Given the description of an element on the screen output the (x, y) to click on. 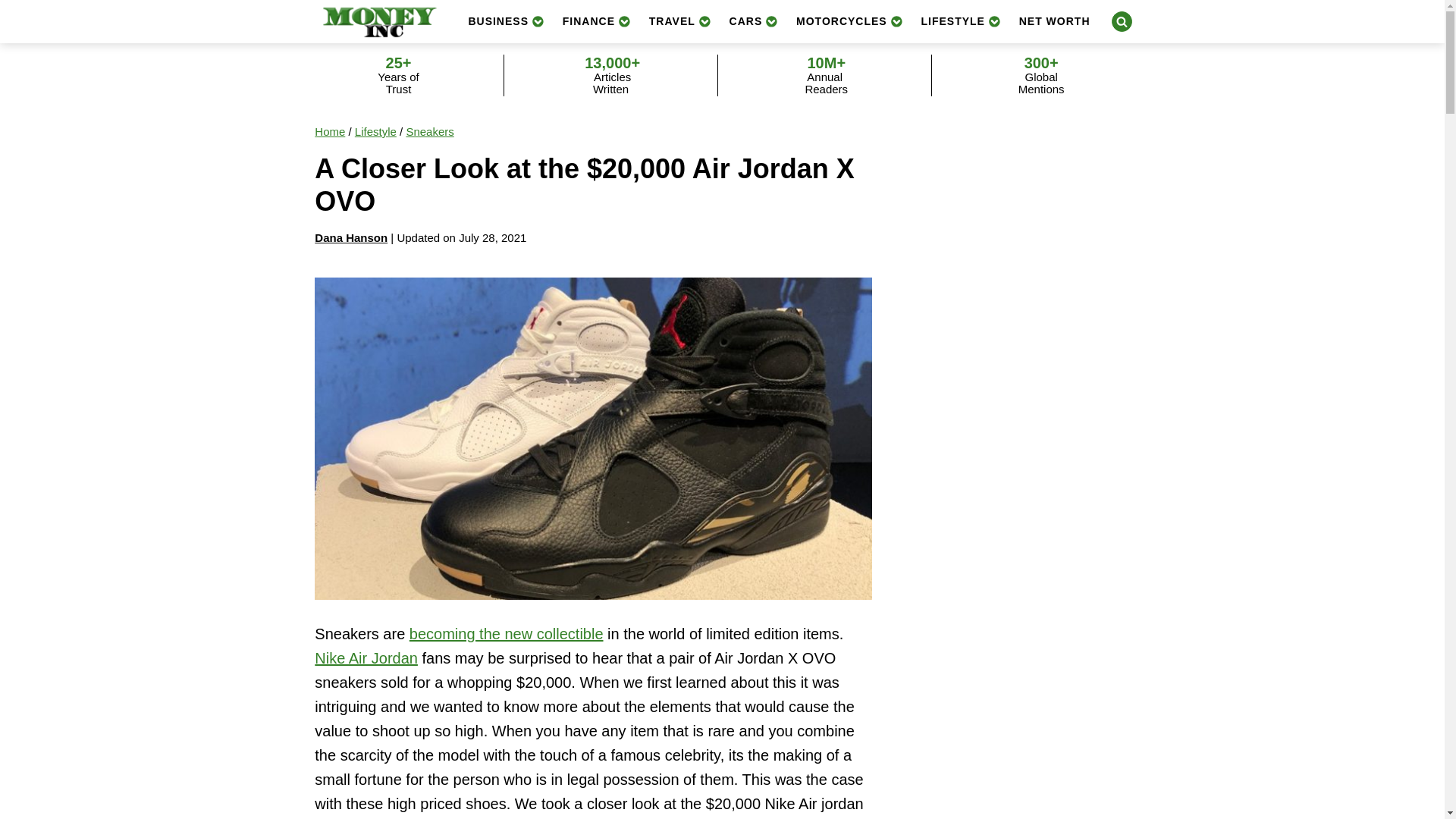
FINANCE (596, 21)
CARS (753, 21)
BUSINESS (505, 21)
TRAVEL (680, 21)
